Given the description of an element on the screen output the (x, y) to click on. 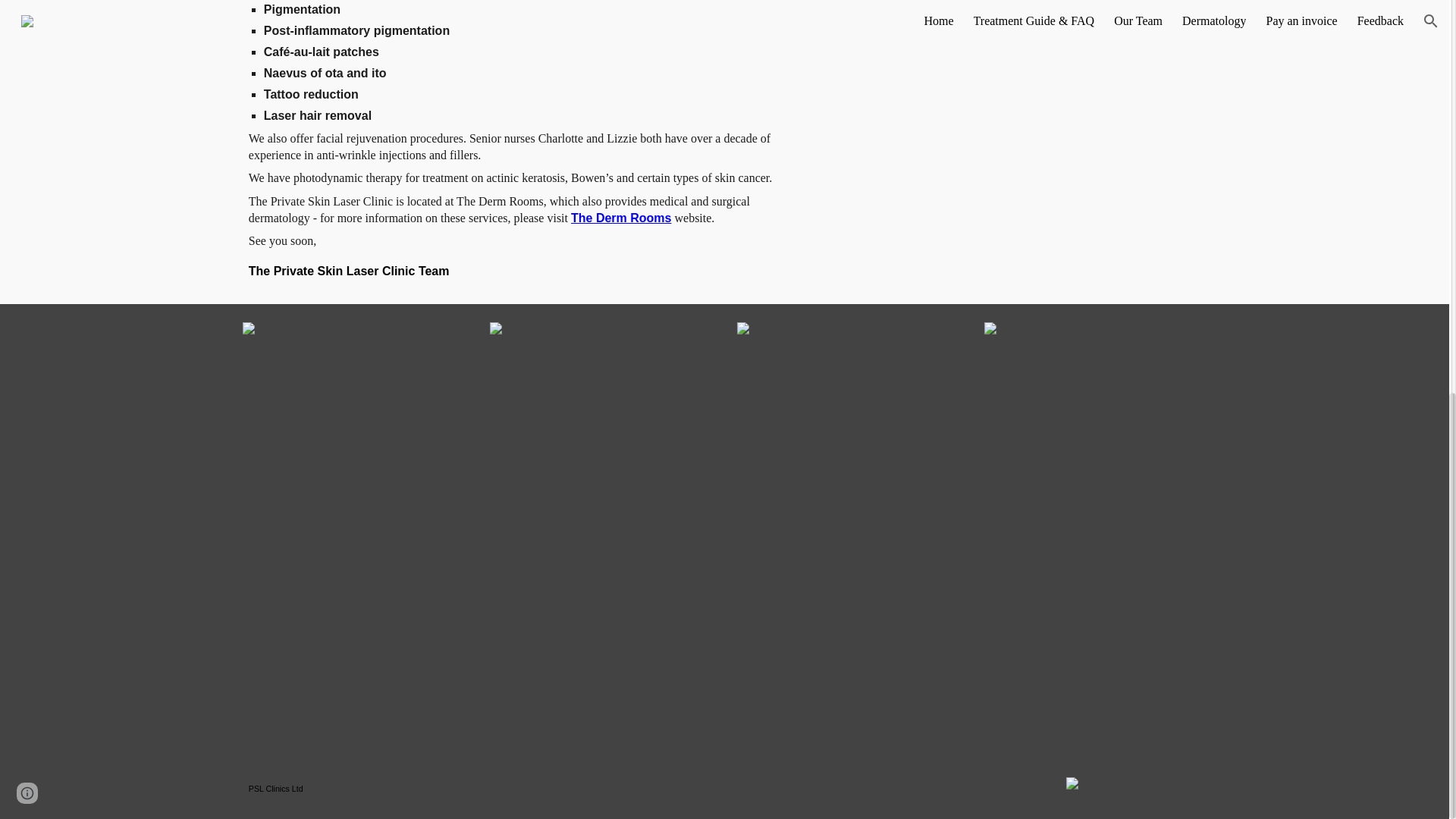
The Derm Rooms (620, 217)
Custom embed (1012, 140)
